Given the description of an element on the screen output the (x, y) to click on. 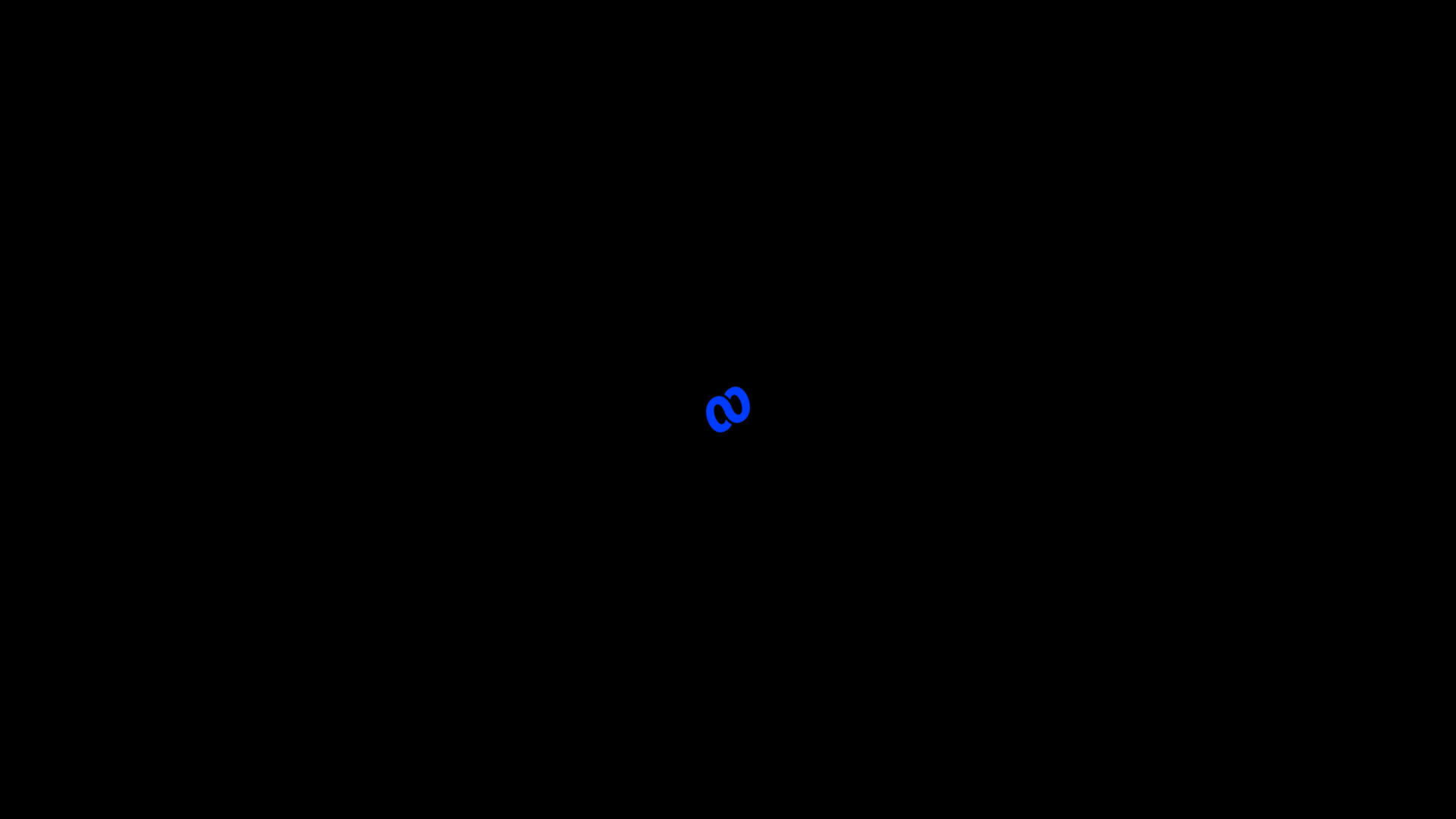
Soundcloud Element type: text (252, 779)
Instagram Element type: text (418, 779)
Youtube Element type: text (338, 779)
label@mymajorcompany.com Element type: text (461, 536)
Facebook Element type: text (160, 779)
QUI SOMMES NOUS ? Element type: text (273, 795)
